Given the description of an element on the screen output the (x, y) to click on. 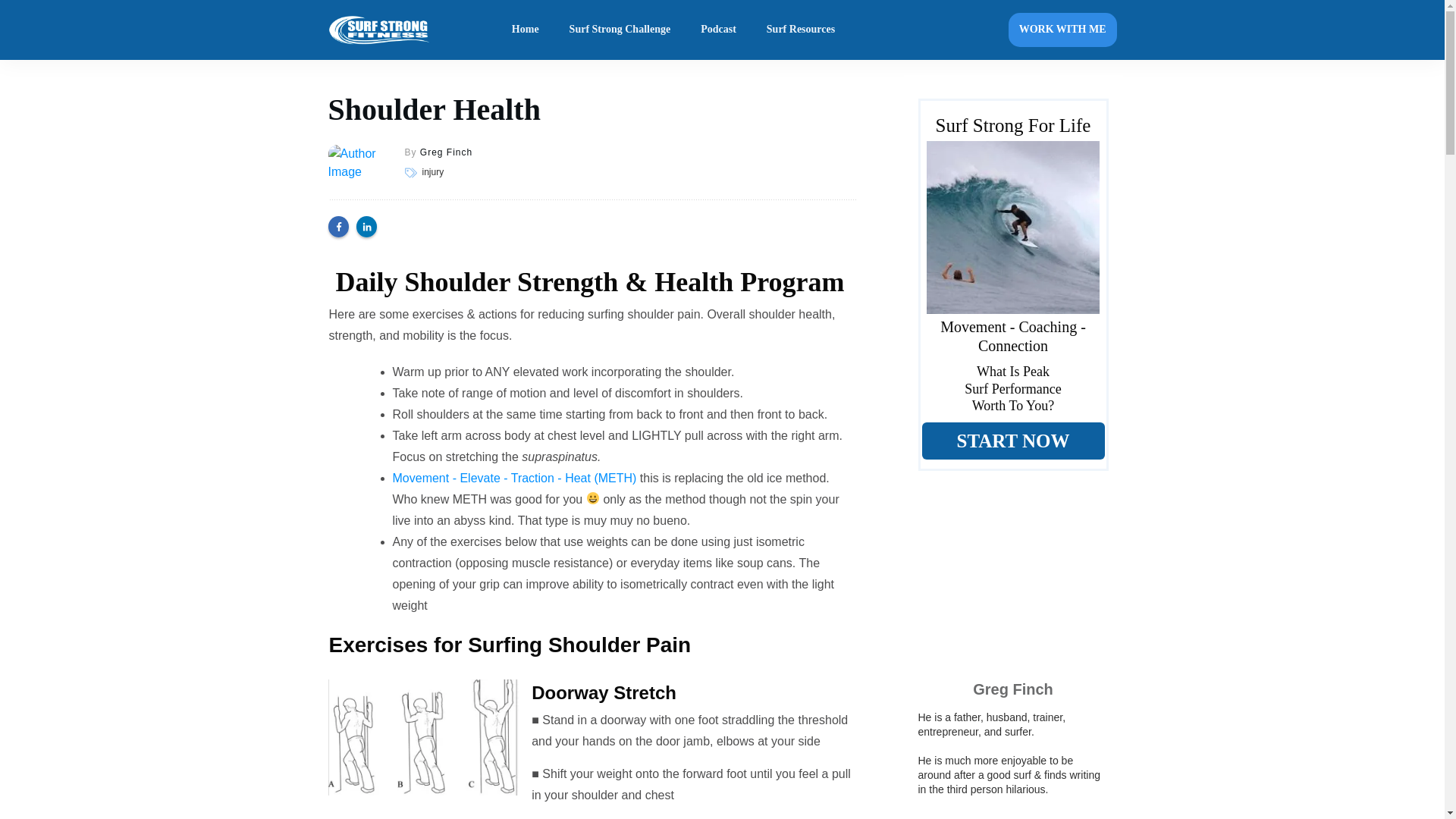
Podcast (718, 29)
START NOW (1013, 441)
Home (525, 29)
RLZ Insta Andrew copy (1012, 226)
Surf Strong Challenge (620, 29)
Shoulder Health (433, 109)
WORK WITH ME (1062, 29)
Doorway Stretch (422, 737)
Surf Resources (800, 29)
undefined (354, 171)
ssf-logo-white-drop-shadow-header (378, 30)
Shoulder Health (433, 109)
